Given the description of an element on the screen output the (x, y) to click on. 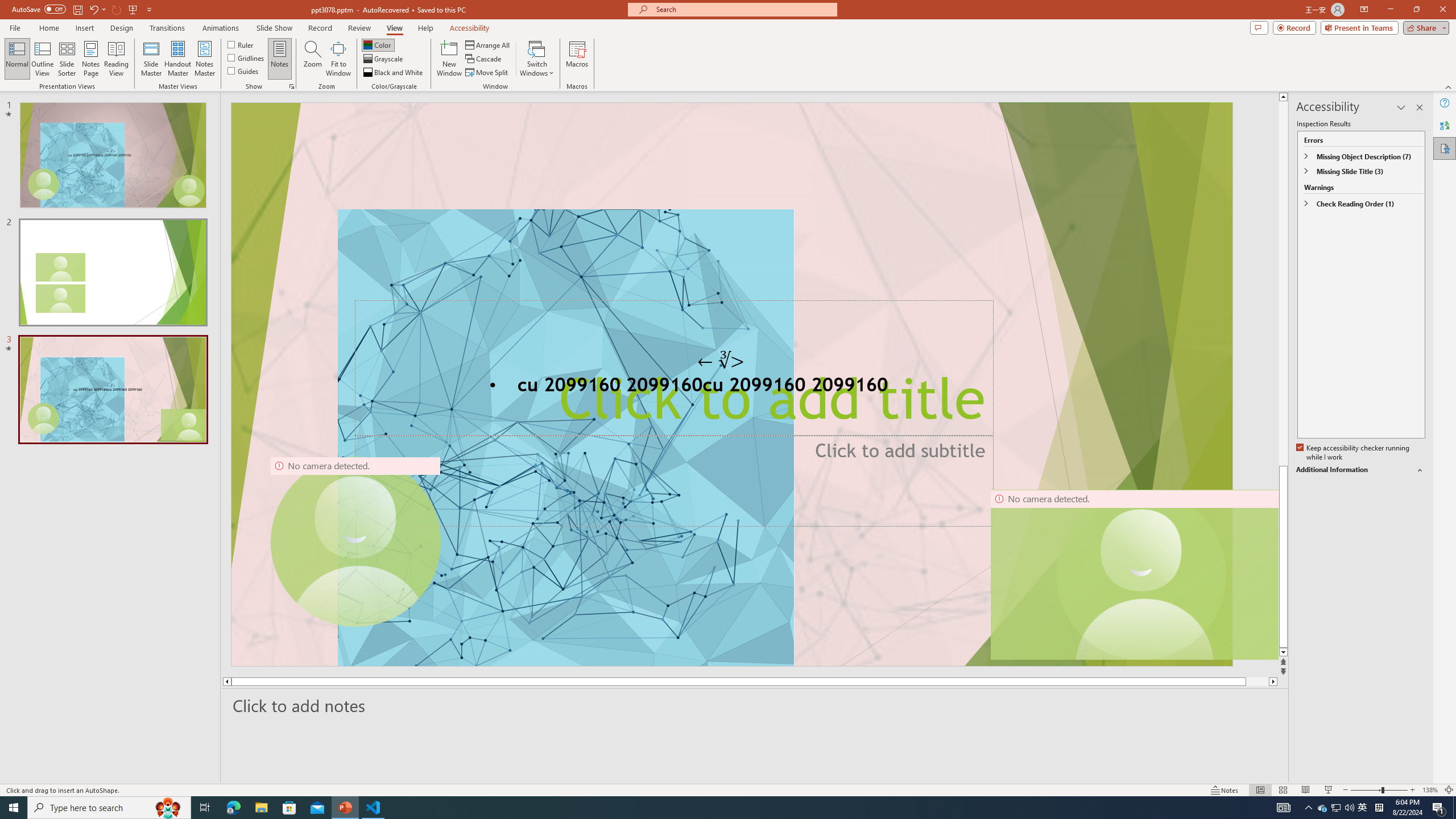
Move Split (487, 72)
Notes Master (204, 58)
Switch Windows (537, 58)
Outline View (42, 58)
Fit to Window (338, 58)
